Given the description of an element on the screen output the (x, y) to click on. 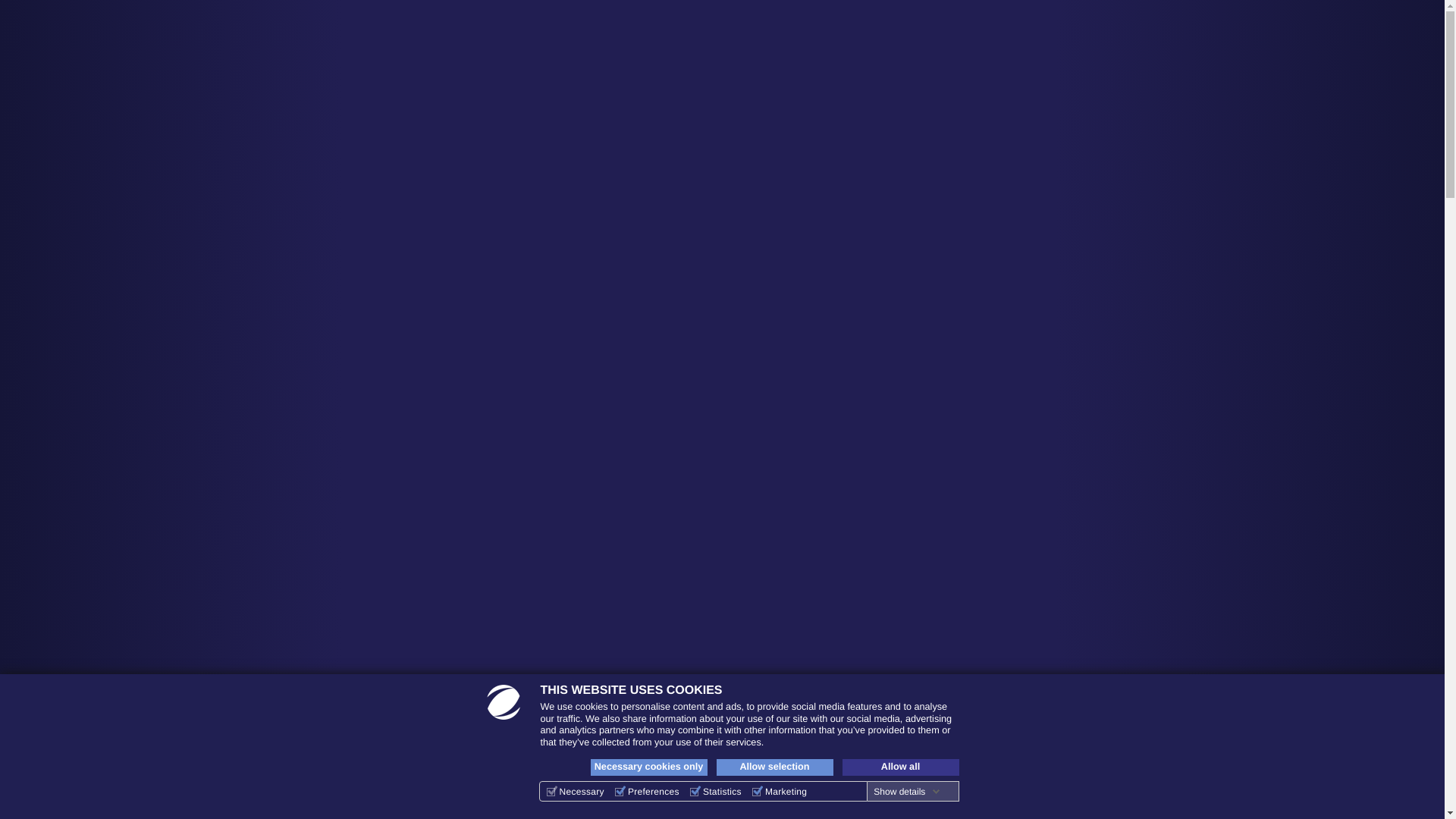
Show details (906, 791)
Allow selection (774, 767)
Allow all (899, 767)
Necessary cookies only (647, 767)
